Given the description of an element on the screen output the (x, y) to click on. 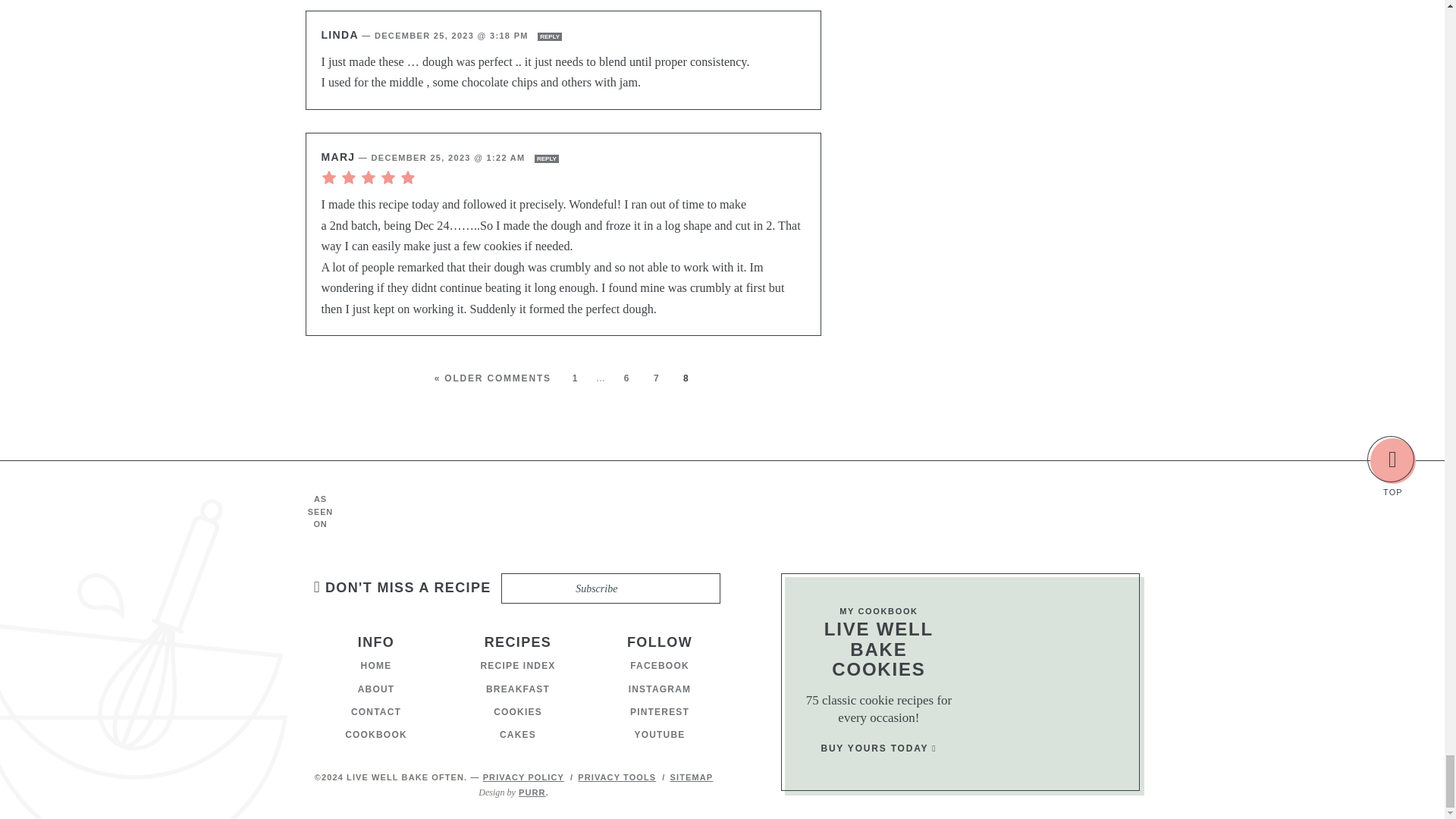
Back to Top (1392, 461)
As Seen On (744, 510)
